Given the description of an element on the screen output the (x, y) to click on. 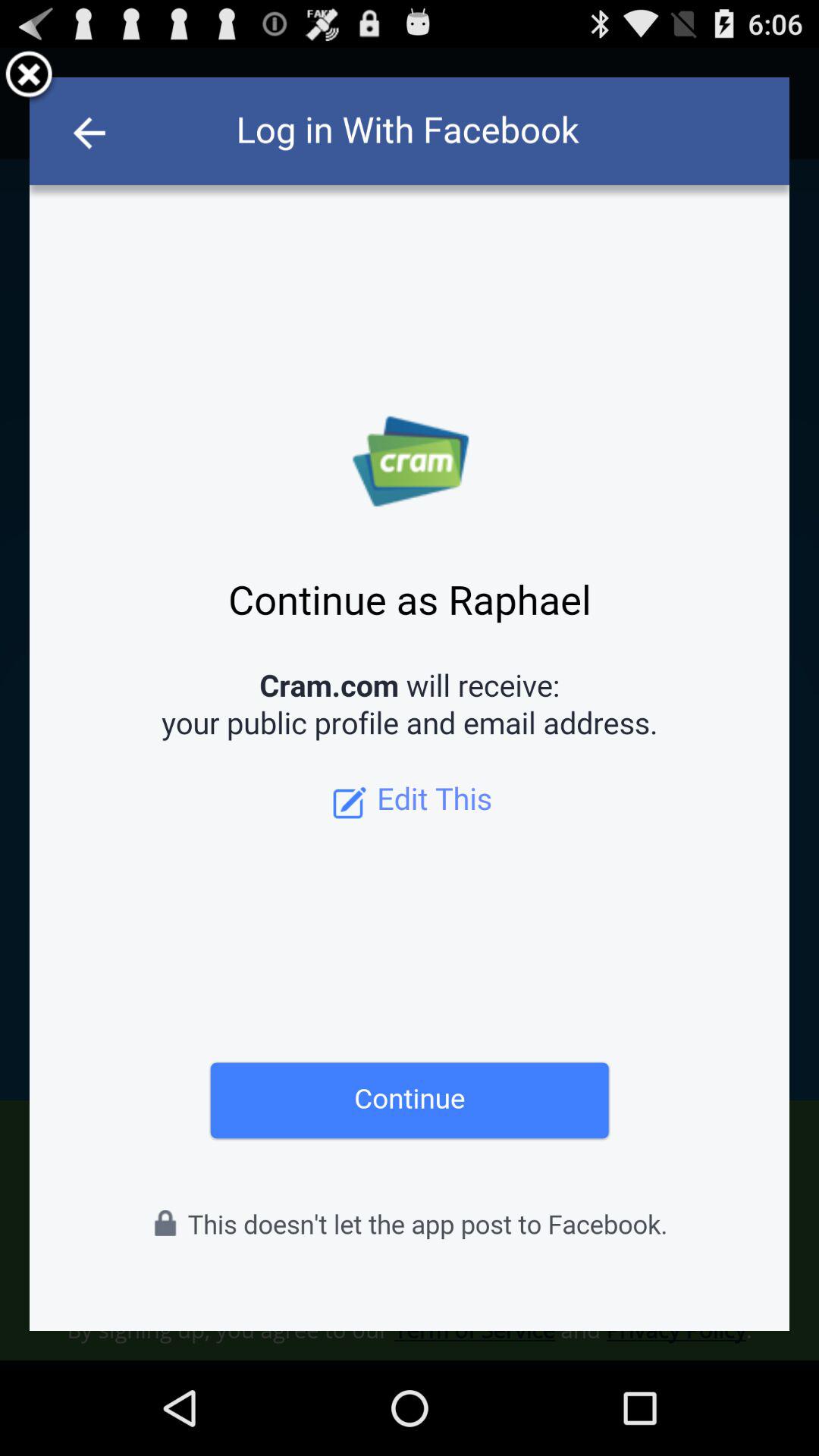
delete button (29, 76)
